Given the description of an element on the screen output the (x, y) to click on. 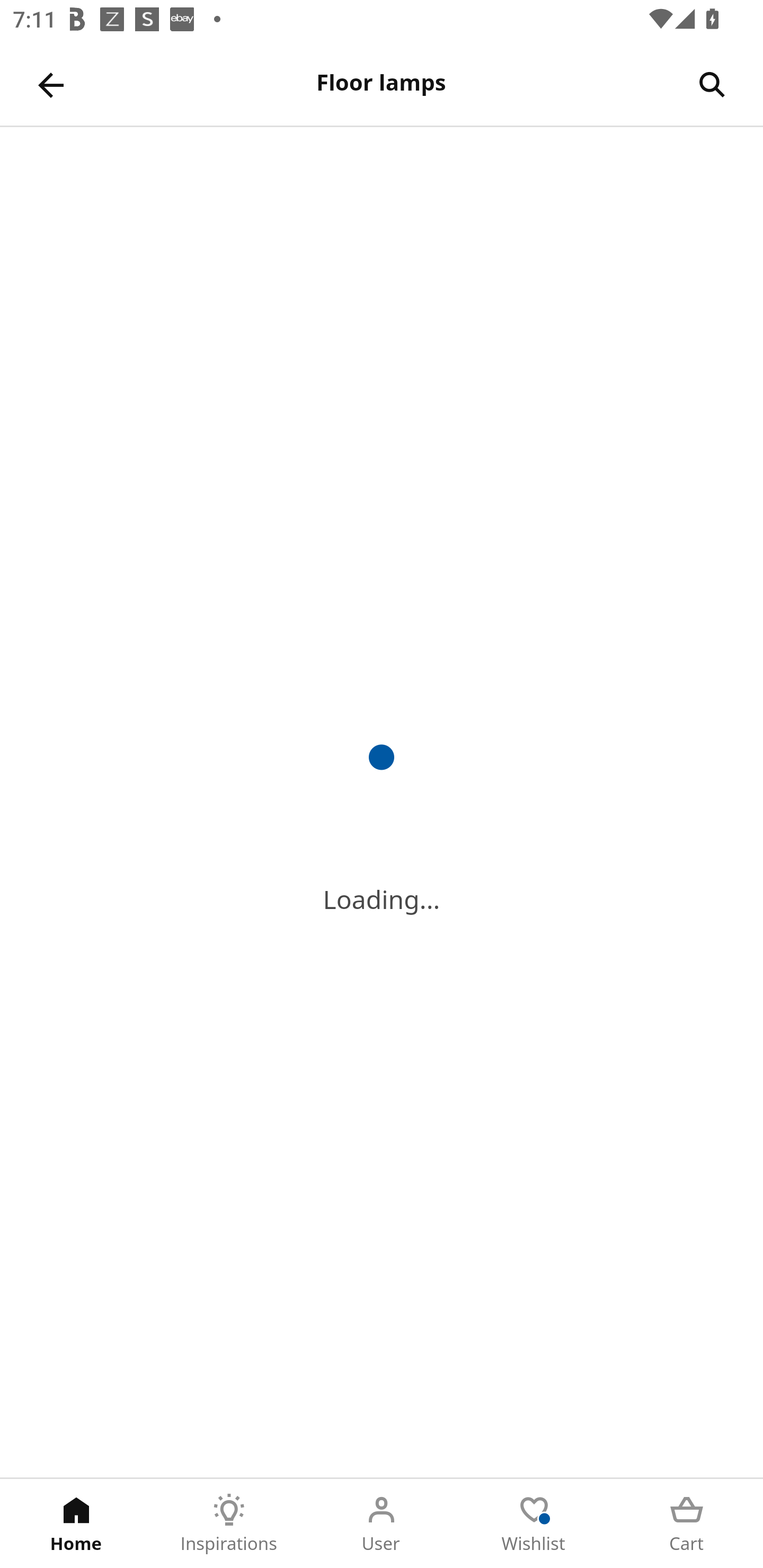
Home
Tab 1 of 5 (76, 1522)
Inspirations
Tab 2 of 5 (228, 1522)
User
Tab 3 of 5 (381, 1522)
Wishlist
Tab 4 of 5 (533, 1522)
Cart
Tab 5 of 5 (686, 1522)
